Given the description of an element on the screen output the (x, y) to click on. 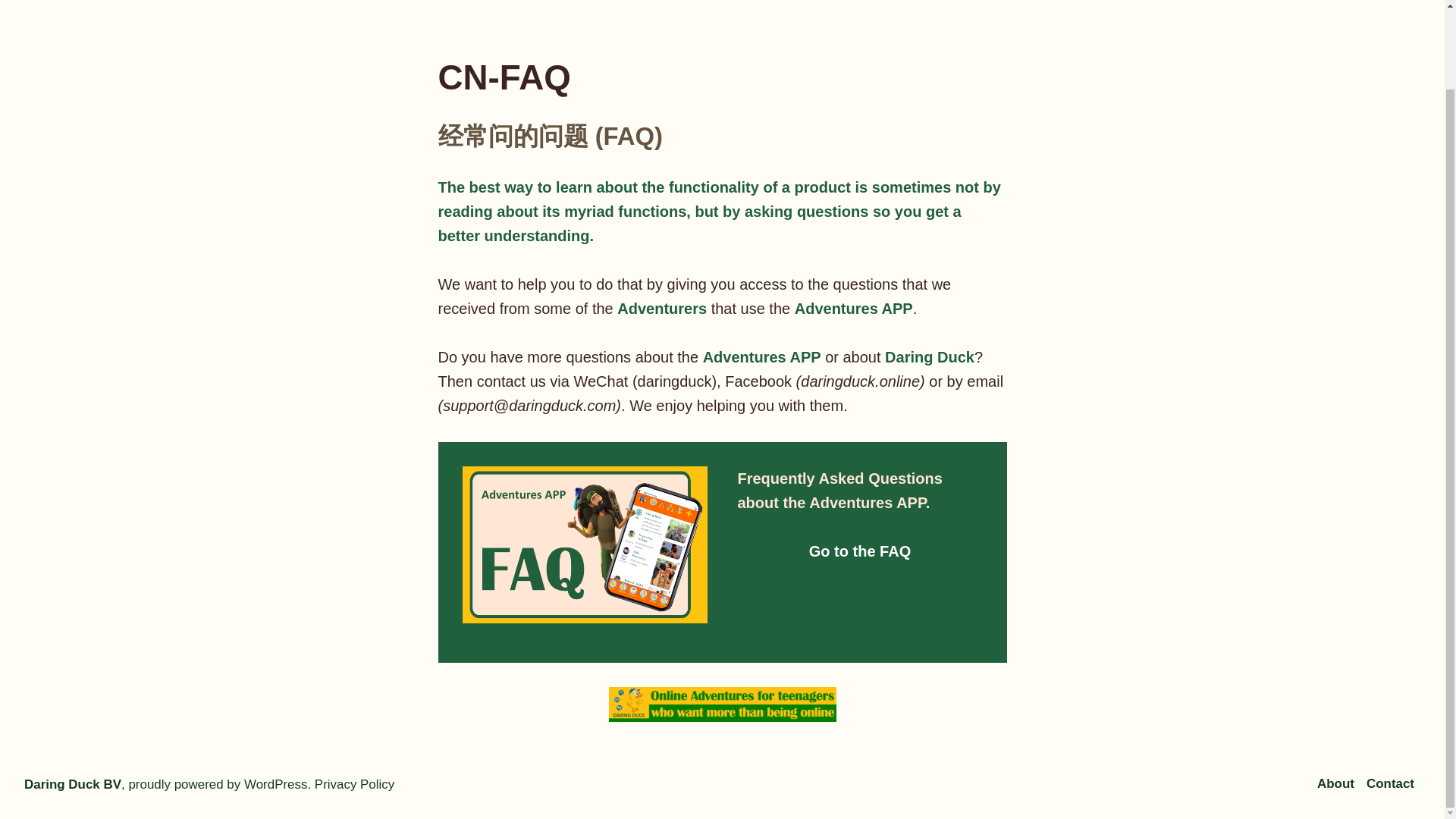
Go to the FAQ (860, 550)
About (1338, 783)
proudly powered by WordPress (217, 784)
Contact (1390, 783)
Daring Duck BV (72, 784)
